Given the description of an element on the screen output the (x, y) to click on. 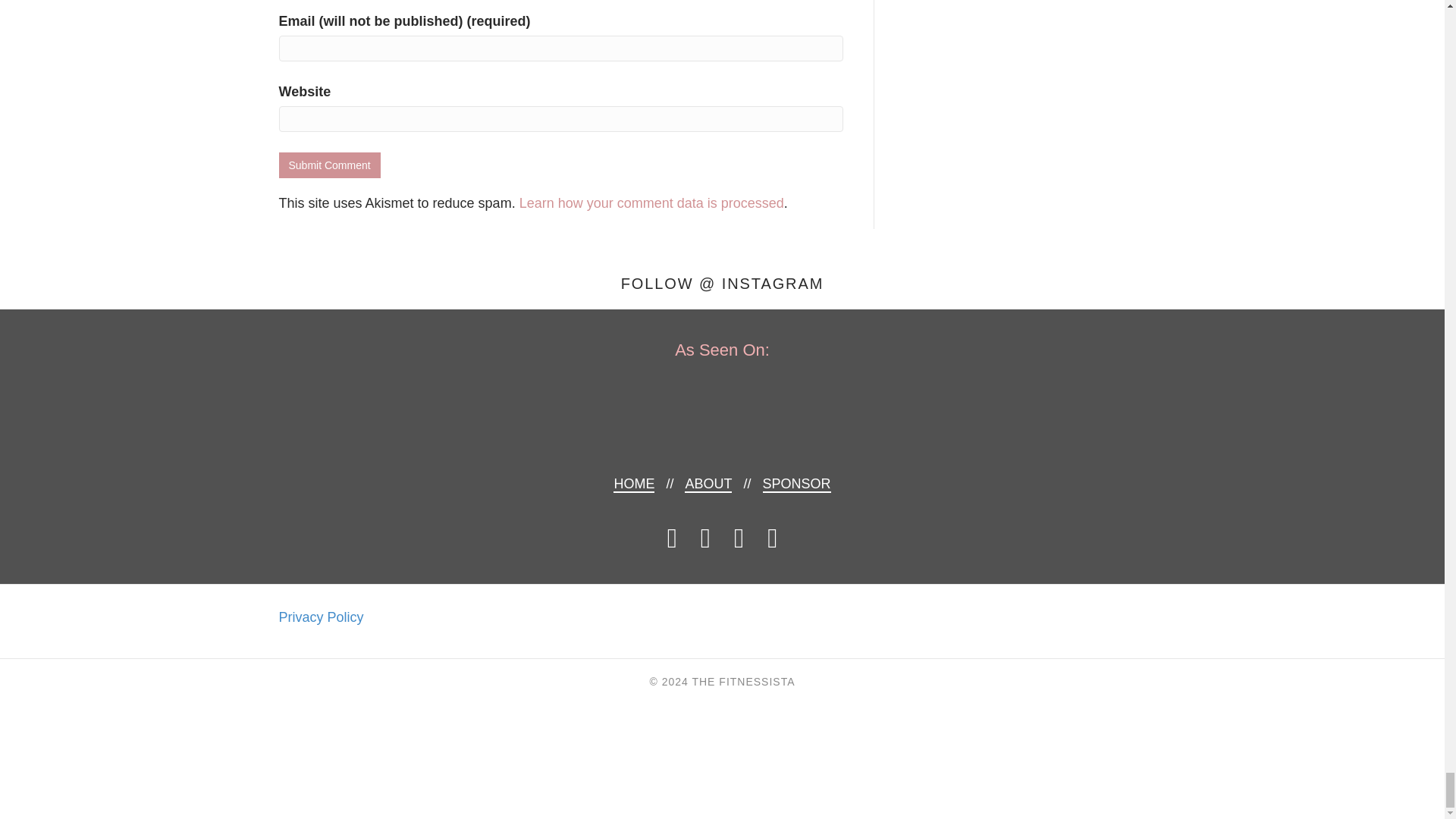
Submit Comment (329, 165)
